Given the description of an element on the screen output the (x, y) to click on. 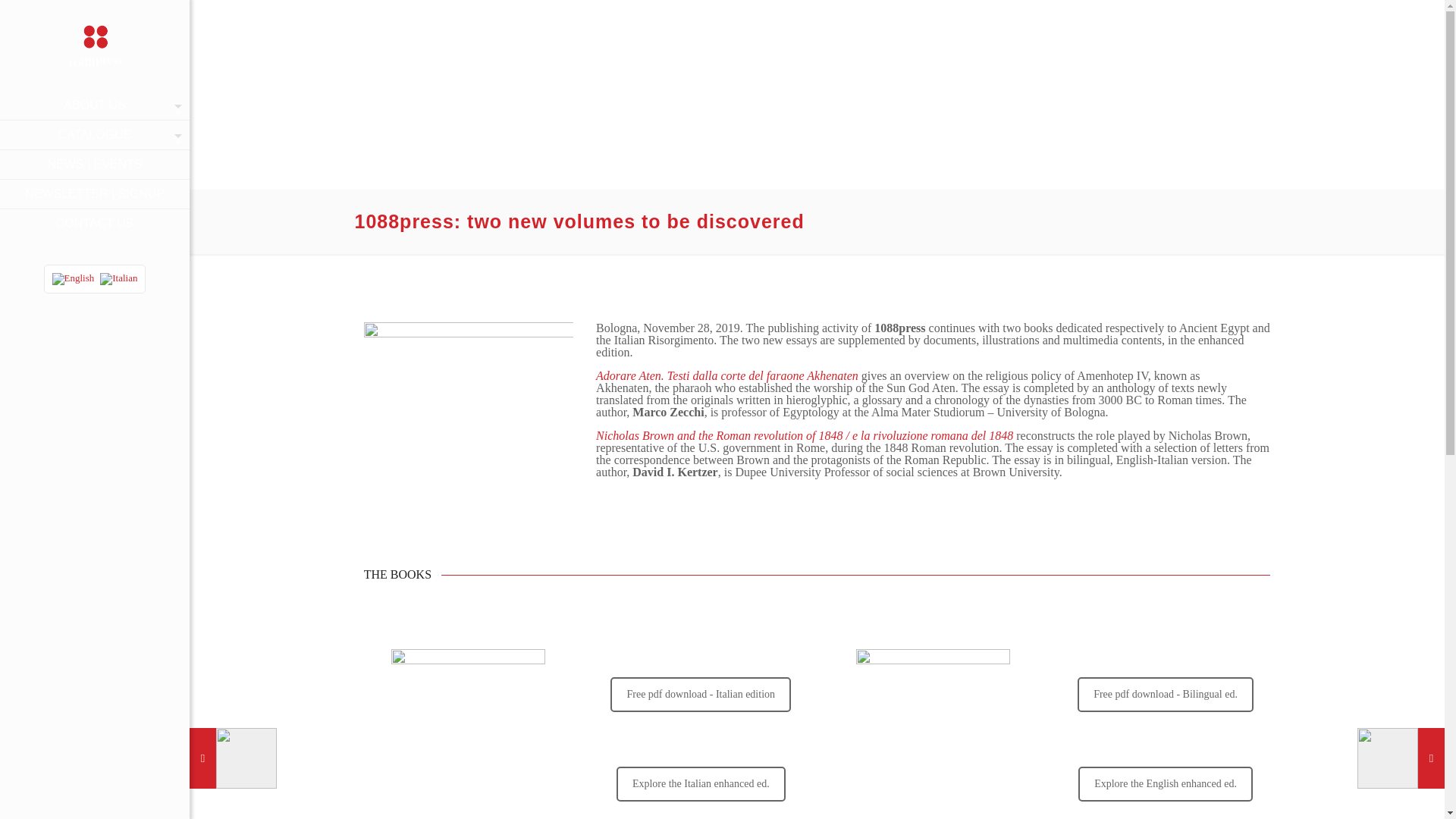
Explore the Italian enhanced ed. (700, 783)
Adorare Aten. Testi dalla corte del faraone Akhenaten (727, 375)
CATALOGUE (94, 134)
ABOUT US (94, 105)
Free pdf download - Italian edition (700, 694)
Free pdf download - Bilingual ed. (1165, 694)
Facebook (85, 336)
Instagram (105, 336)
Explore the English enhanced ed. (1165, 783)
CONTACT US (94, 223)
